Given the description of an element on the screen output the (x, y) to click on. 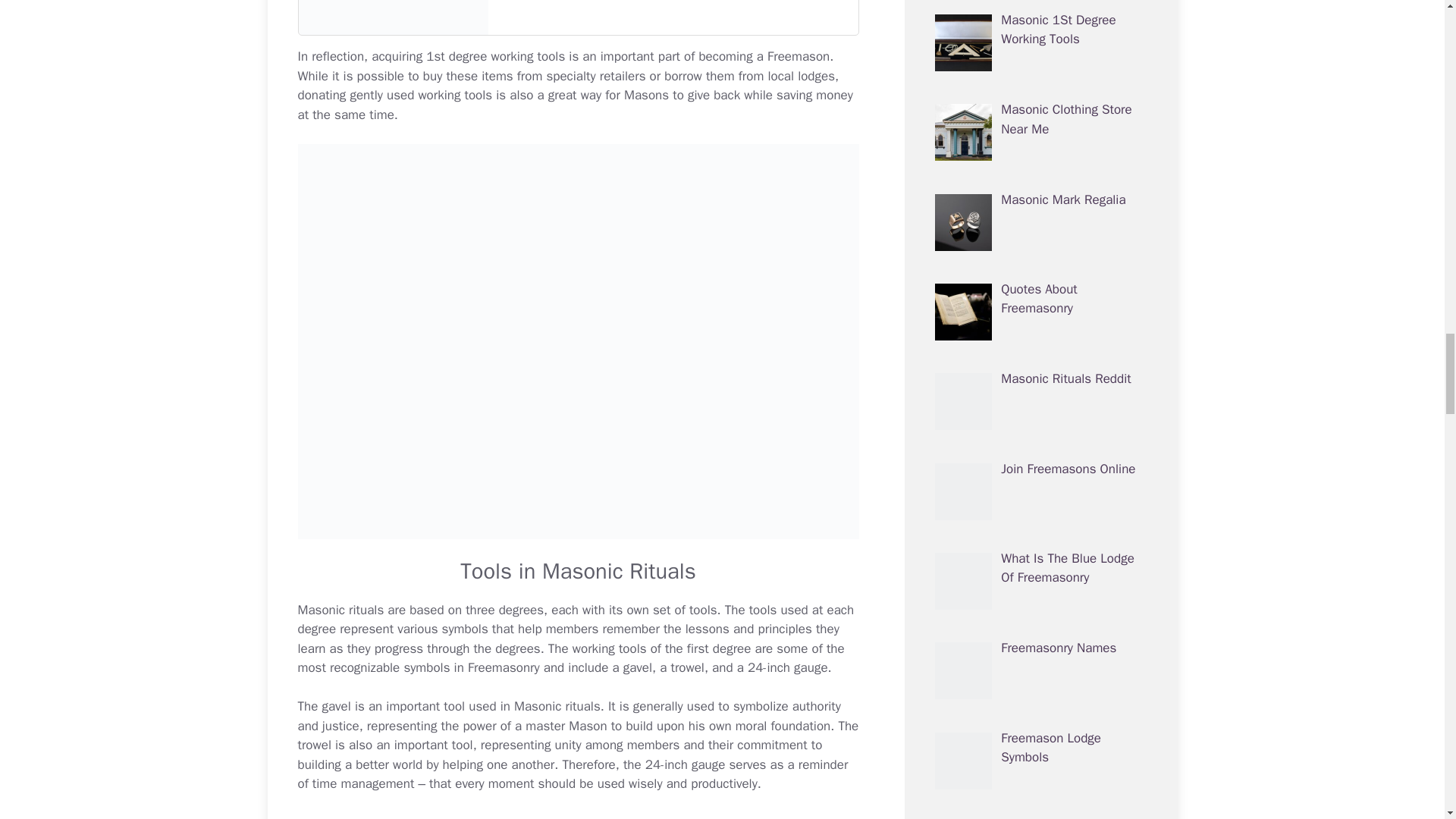
becoming a Freemason (763, 56)
What Is The Sign Of A Mark Master Mason (578, 18)
Become A Freemason Uk (566, 725)
Masonic First Degree Ritual (763, 56)
